Given the description of an element on the screen output the (x, y) to click on. 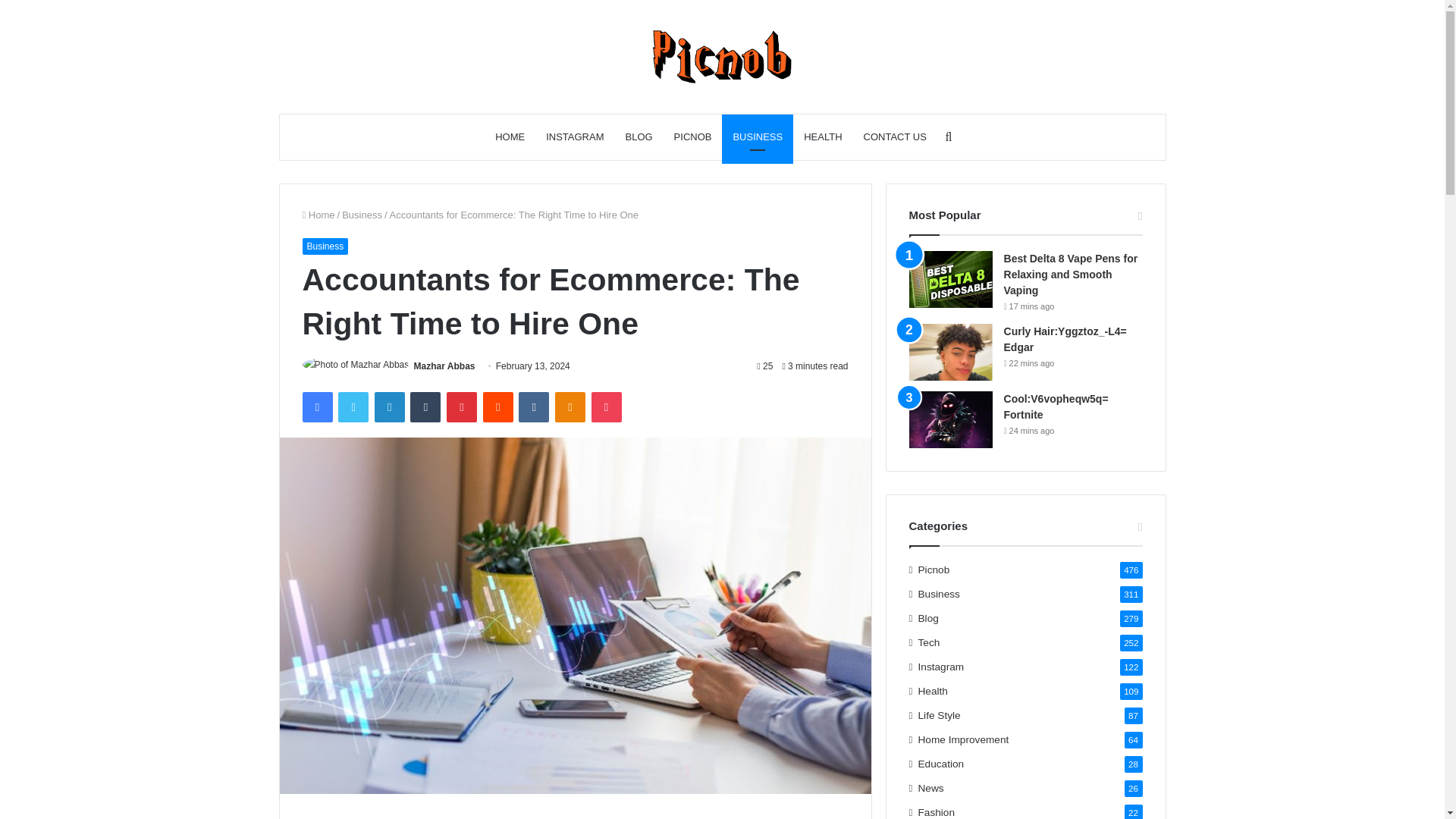
CONTACT US (895, 136)
VKontakte (533, 407)
INSTAGRAM (574, 136)
Twitter (352, 407)
BUSINESS (757, 136)
Reddit (498, 407)
Reddit (498, 407)
Odnoklassniki (569, 407)
Twitter (352, 407)
Home (317, 214)
Mazhar Abbas (444, 366)
Pinterest (461, 407)
Facebook (316, 407)
Mazhar Abbas (444, 366)
Tumblr (425, 407)
